Given the description of an element on the screen output the (x, y) to click on. 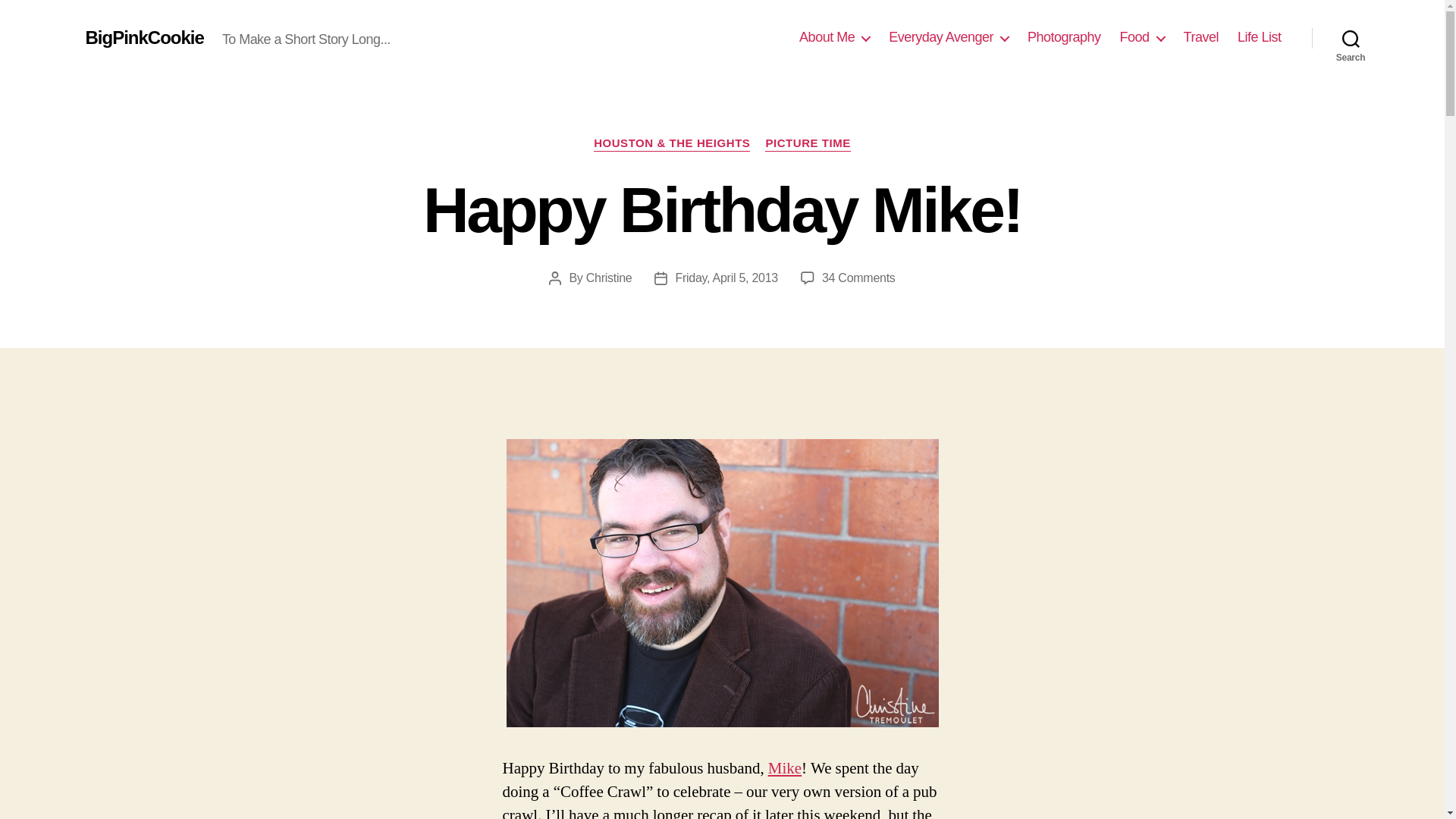
BigPinkCookie (143, 37)
Food (1141, 37)
Everyday Avenger (948, 37)
Christine (608, 277)
PICTURE TIME (807, 143)
About Me (834, 37)
Travel (1200, 37)
Life List (1259, 37)
Photography (1063, 37)
Search (1350, 37)
